Given the description of an element on the screen output the (x, y) to click on. 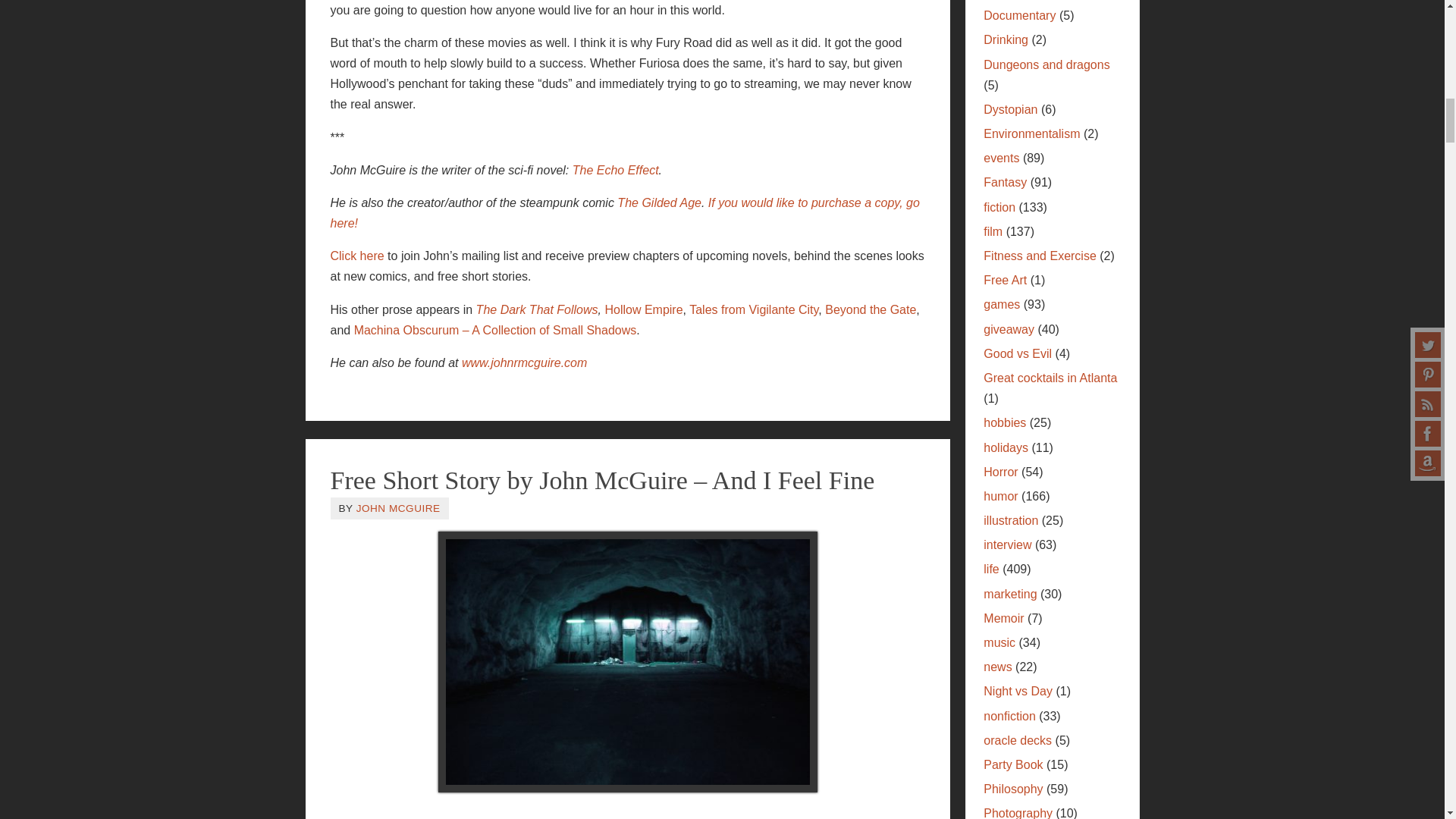
View all posts by John McGuire (398, 508)
The Echo Effect (615, 169)
Hollow Empire (643, 309)
The Dark That Follows (537, 309)
The Gilded Age (659, 202)
Click here (357, 255)
If you would like to purchase a copy, go here! (625, 213)
